Given the description of an element on the screen output the (x, y) to click on. 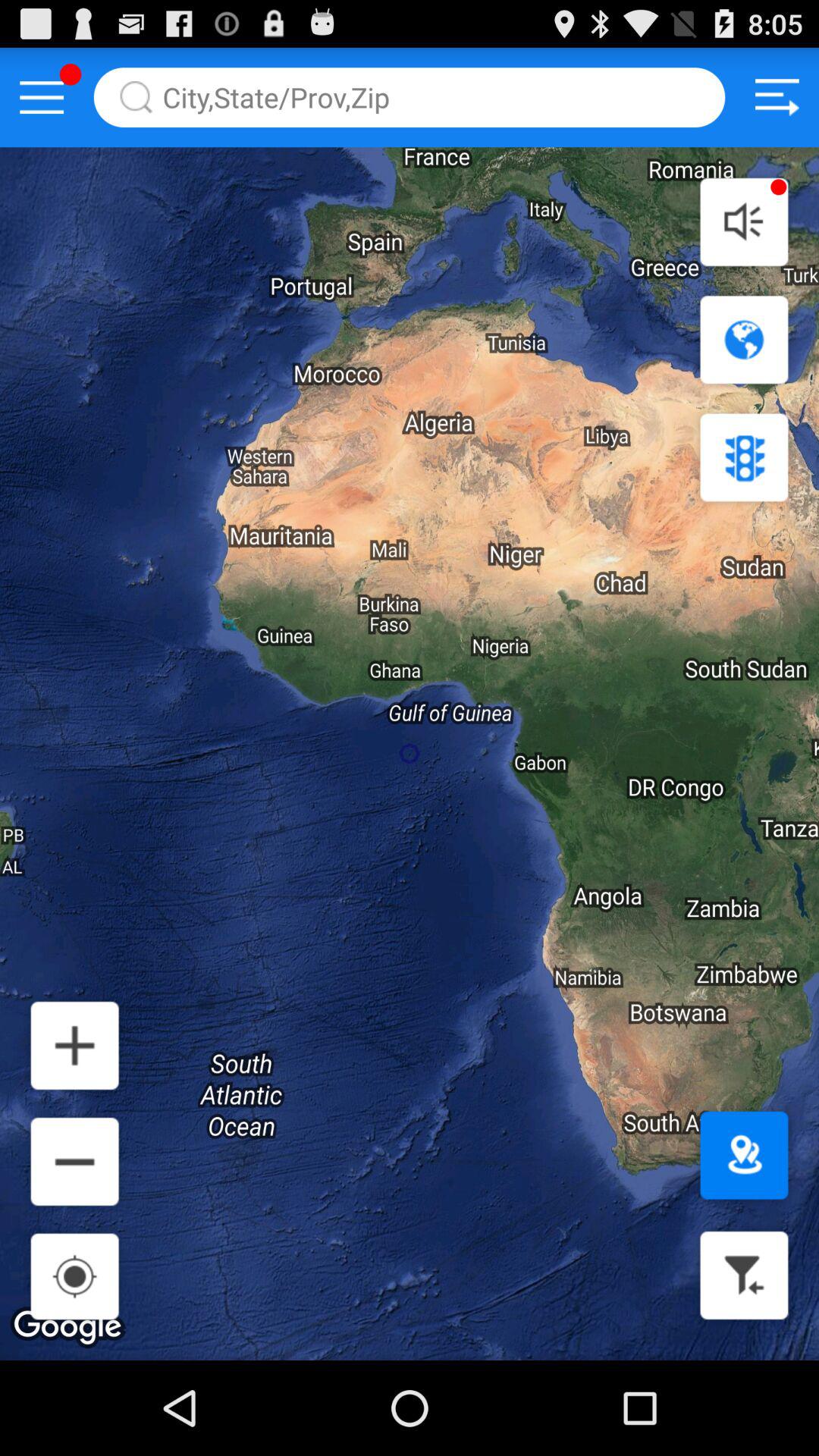
world (744, 339)
